Given the description of an element on the screen output the (x, y) to click on. 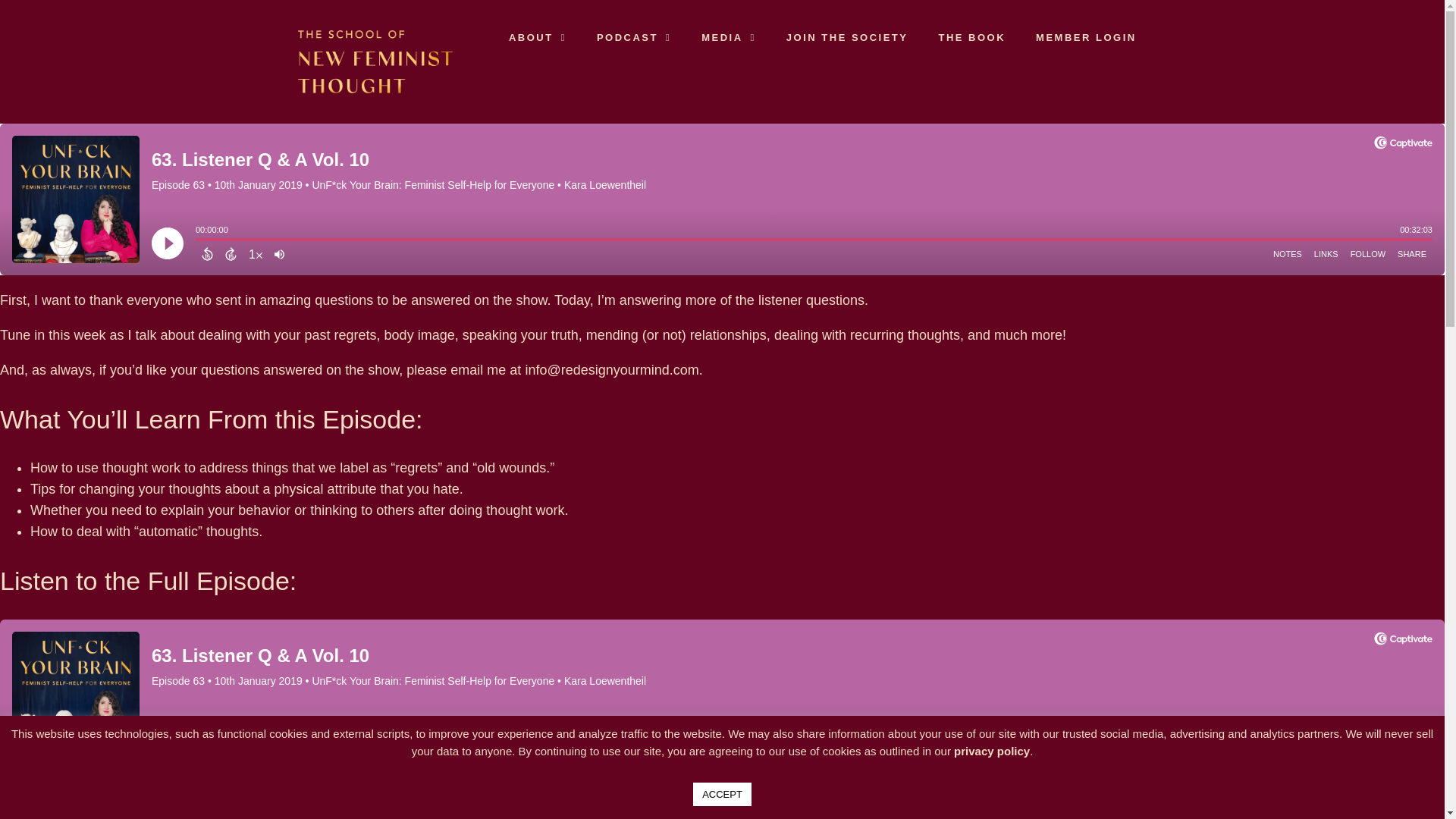
ABOUT (536, 37)
PODCAST (632, 37)
JOIN THE SOCIETY (847, 37)
MEDIA (728, 37)
MEMBER LOGIN (1085, 37)
THE BOOK (971, 37)
